Given the description of an element on the screen output the (x, y) to click on. 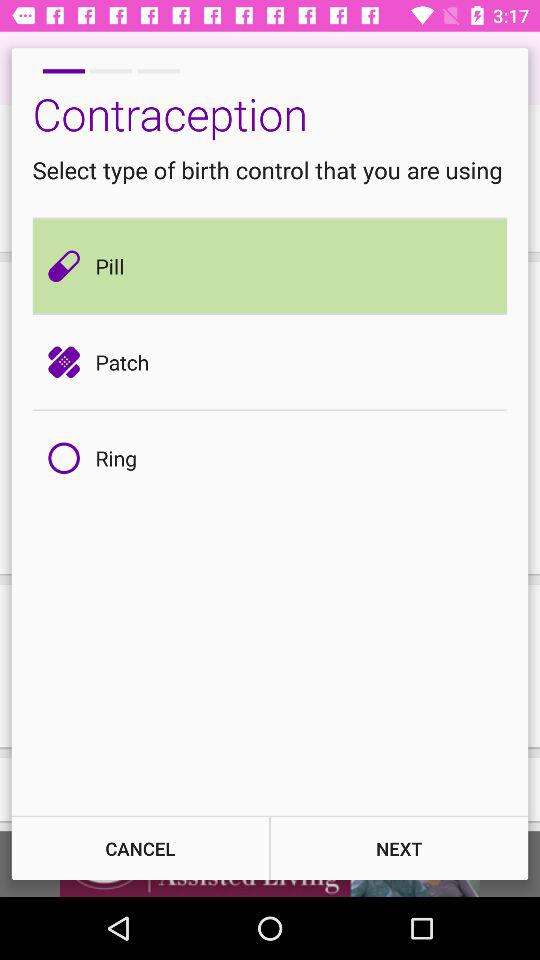
click on the patch icon (69, 361)
select the option pill above the patch (69, 265)
click on the circle image option before ring (69, 457)
select the next button which at the bottom of the page (399, 848)
